Given the description of an element on the screen output the (x, y) to click on. 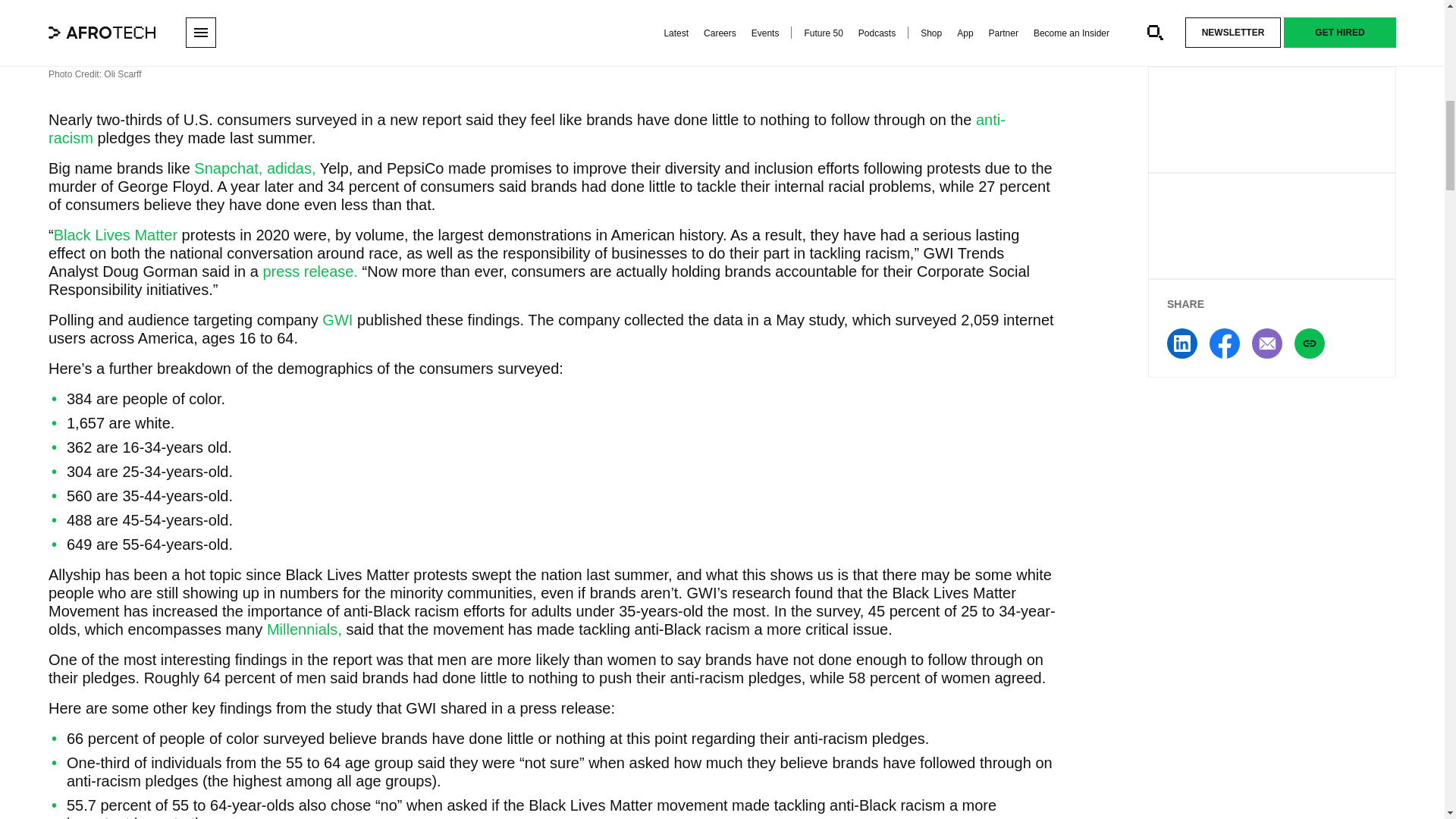
adidas, (290, 167)
anti-racism (527, 128)
GWI (336, 320)
Black Lives Matter (115, 234)
Millennials, (304, 629)
press release. (310, 271)
Snapchat, (227, 167)
